Given the description of an element on the screen output the (x, y) to click on. 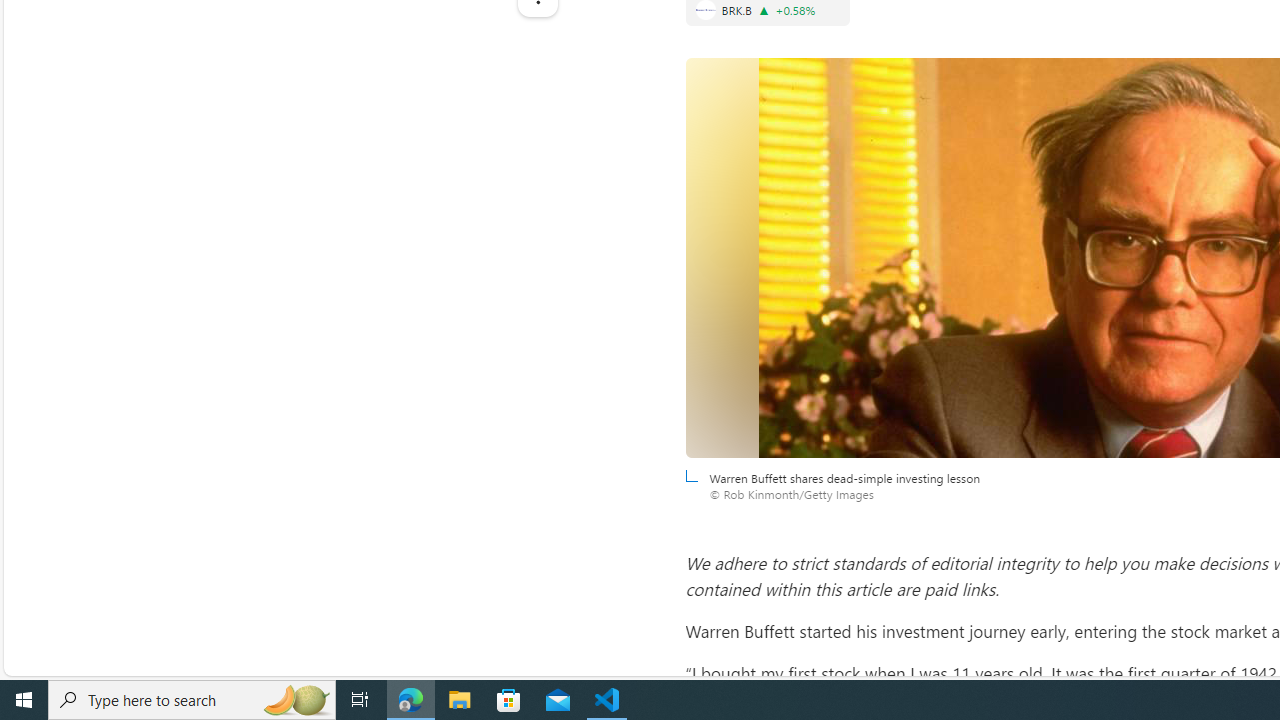
Price increase (763, 10)
BERKSHIRE HATHAWAY INC. (705, 10)
